Given the description of an element on the screen output the (x, y) to click on. 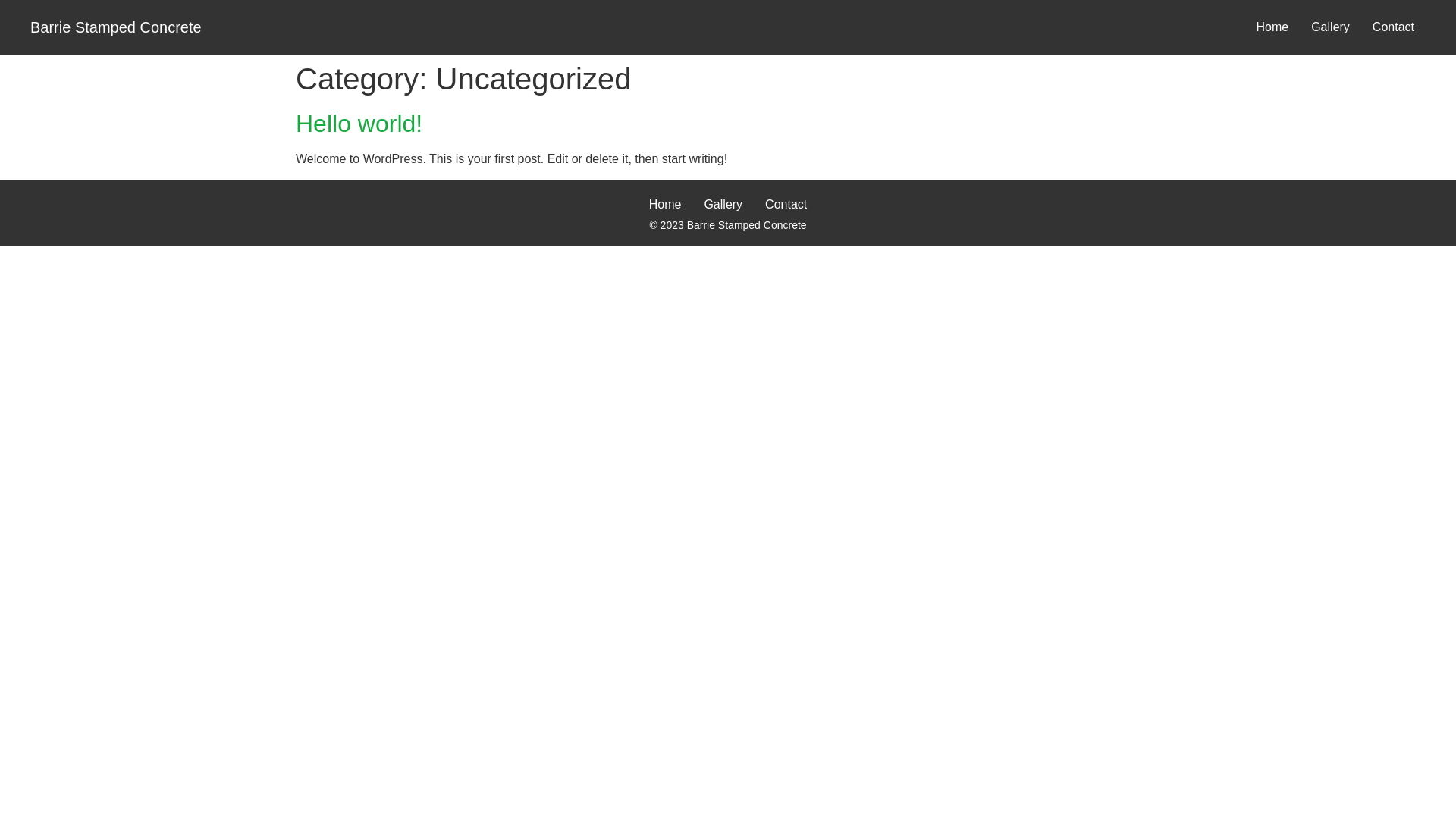
Contact Element type: text (785, 204)
Contact Element type: text (1393, 27)
Home Element type: text (1271, 27)
Gallery Element type: text (722, 204)
Hello world! Element type: text (358, 123)
Gallery Element type: text (1330, 27)
Barrie Stamped Concrete Element type: text (115, 26)
Home Element type: text (665, 204)
